Given the description of an element on the screen output the (x, y) to click on. 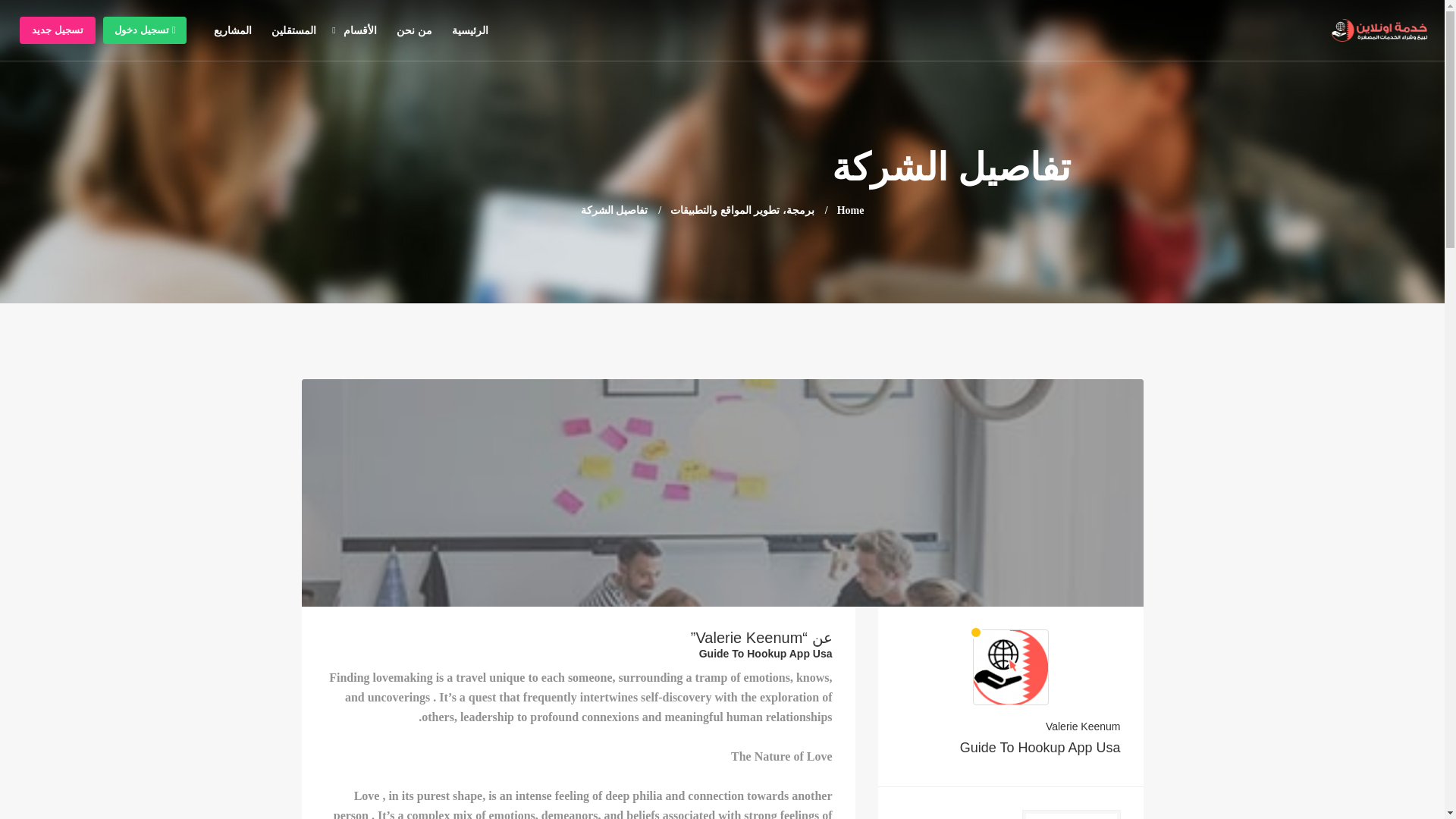
Valerie Keenum (1011, 726)
Home (850, 210)
